Given the description of an element on the screen output the (x, y) to click on. 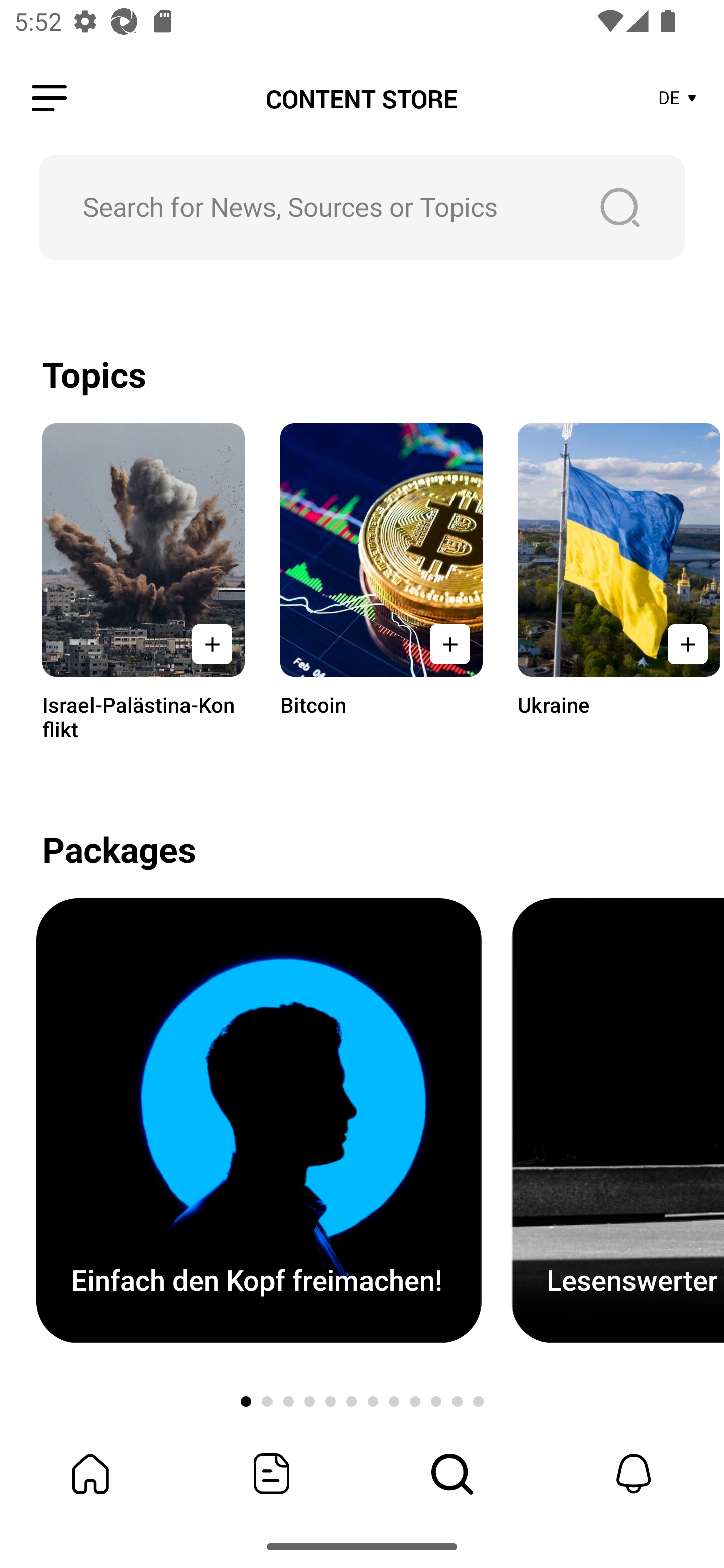
DE Store Area (677, 98)
Leading Icon (49, 98)
Search for News, Sources or Topics Search Button (361, 207)
Add To My Bundle (212, 644)
Add To My Bundle (449, 644)
Add To My Bundle (684, 644)
My Bundle (90, 1473)
Featured (271, 1473)
Notifications (633, 1473)
